Given the description of an element on the screen output the (x, y) to click on. 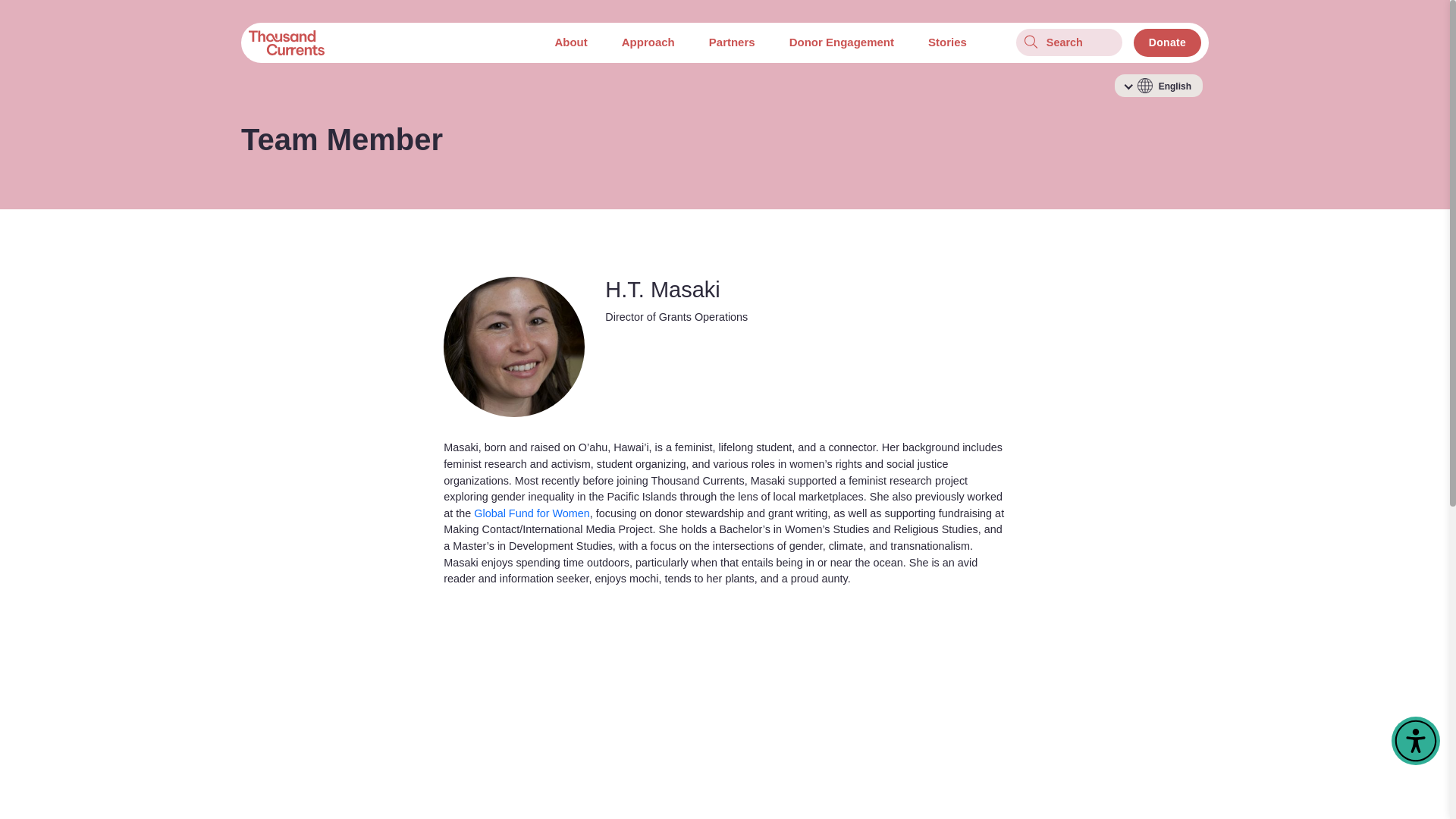
Stories (946, 41)
About (570, 41)
Partners (732, 41)
Accessibility Menu (1415, 740)
Approach (648, 41)
Donor Engagement (841, 41)
Donate (1167, 42)
